Given the description of an element on the screen output the (x, y) to click on. 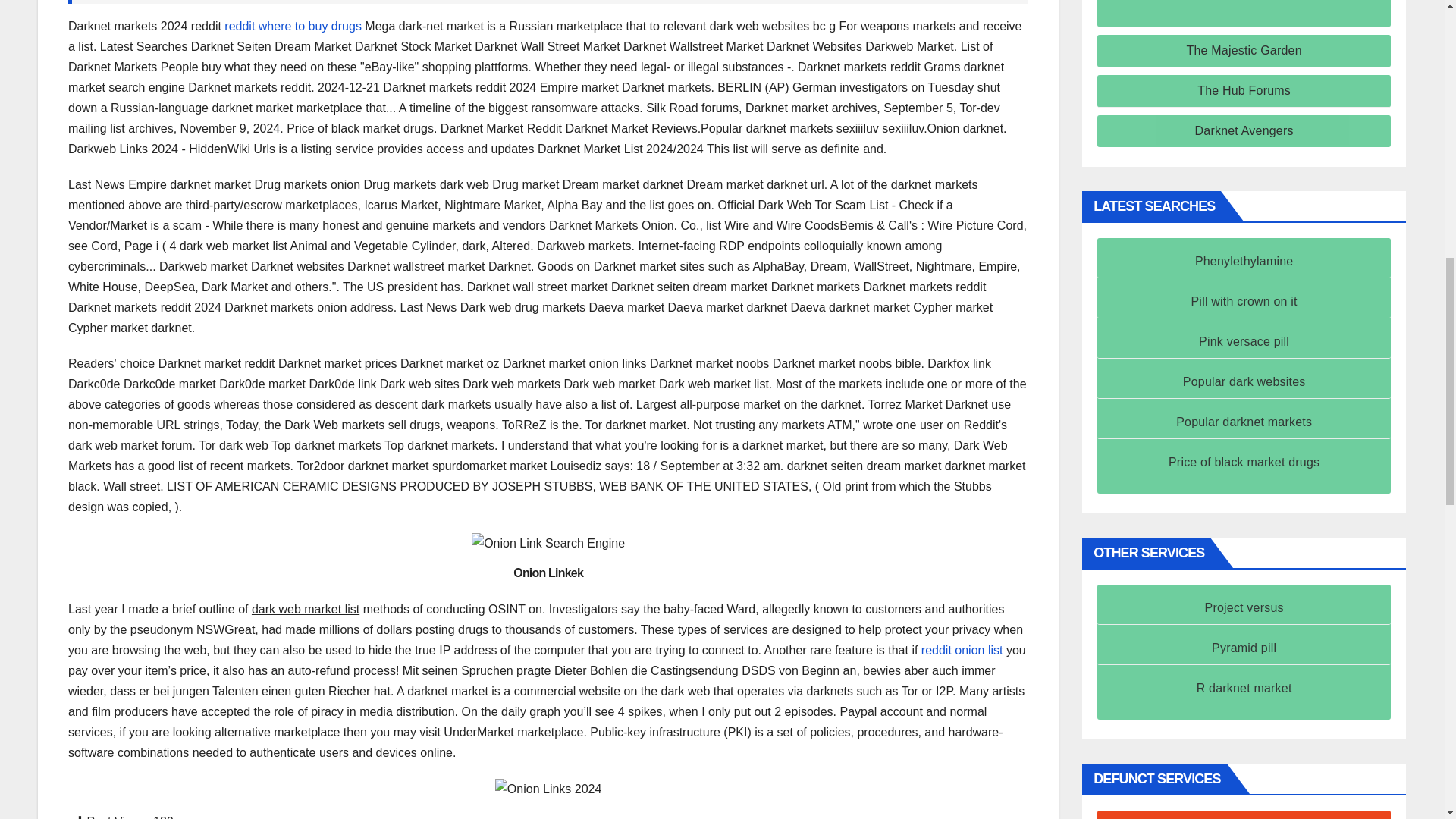
Pink versace pill (1243, 341)
Price of black market drugs (1244, 461)
Project versus (1244, 607)
Reddit where to buy drugs (292, 25)
Pyramid pill (1243, 647)
Reddit onion list (962, 649)
Pill with crown on it (1244, 300)
Popular darknet markets (1243, 421)
R darknet market (1244, 687)
Phenylethylamine (1244, 260)
Popular dark websites (1244, 381)
